Given the description of an element on the screen output the (x, y) to click on. 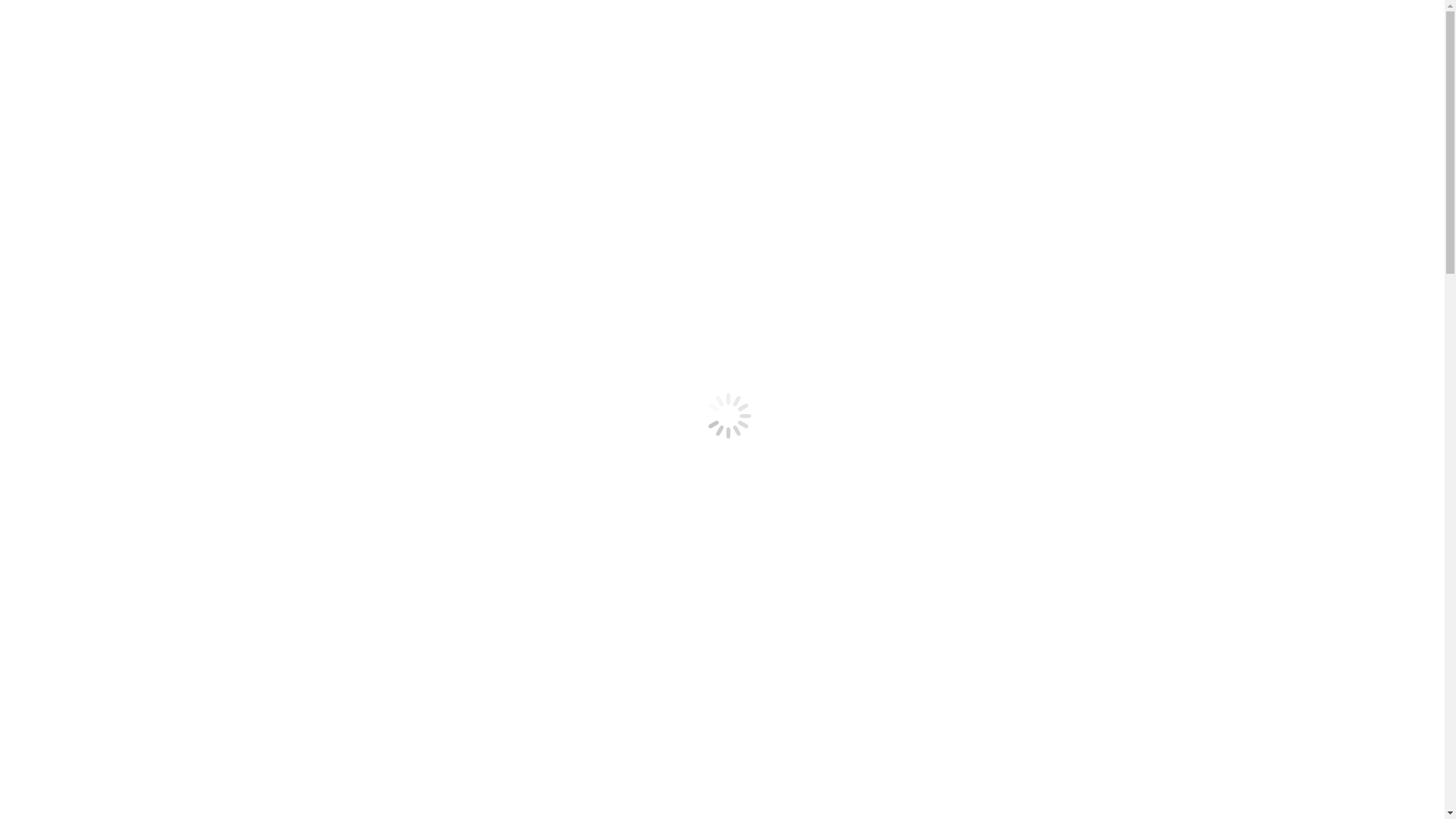
WHO WE ARE Element type: text (119, 53)
WHAT WE DO Element type: text (118, 68)
MINING & RESOURCES Element type: text (175, 82)
CORPORATE Element type: text (144, 96)
TOURISM Element type: text (133, 183)
LAST MINUTE Element type: text (147, 140)
EXPERIENCES Element type: text (119, 212)
CONTACT Element type: text (105, 240)
GOVERNMENT Element type: text (150, 111)
FREIGHT & DANGEROUS GOODS Element type: text (208, 154)
MEDICAL Element type: text (133, 125)
REQUEST A QUOTE Element type: text (143, 261)
Skip to content Element type: text (5, 5)
BLOG Element type: text (92, 226)
REGIONAL SERVICES Element type: text (172, 197)
PRIVATE CHARTERS Element type: text (167, 168)
Private VIP Lounge at Perth Airport Element type: hover (118, 653)
